Given the description of an element on the screen output the (x, y) to click on. 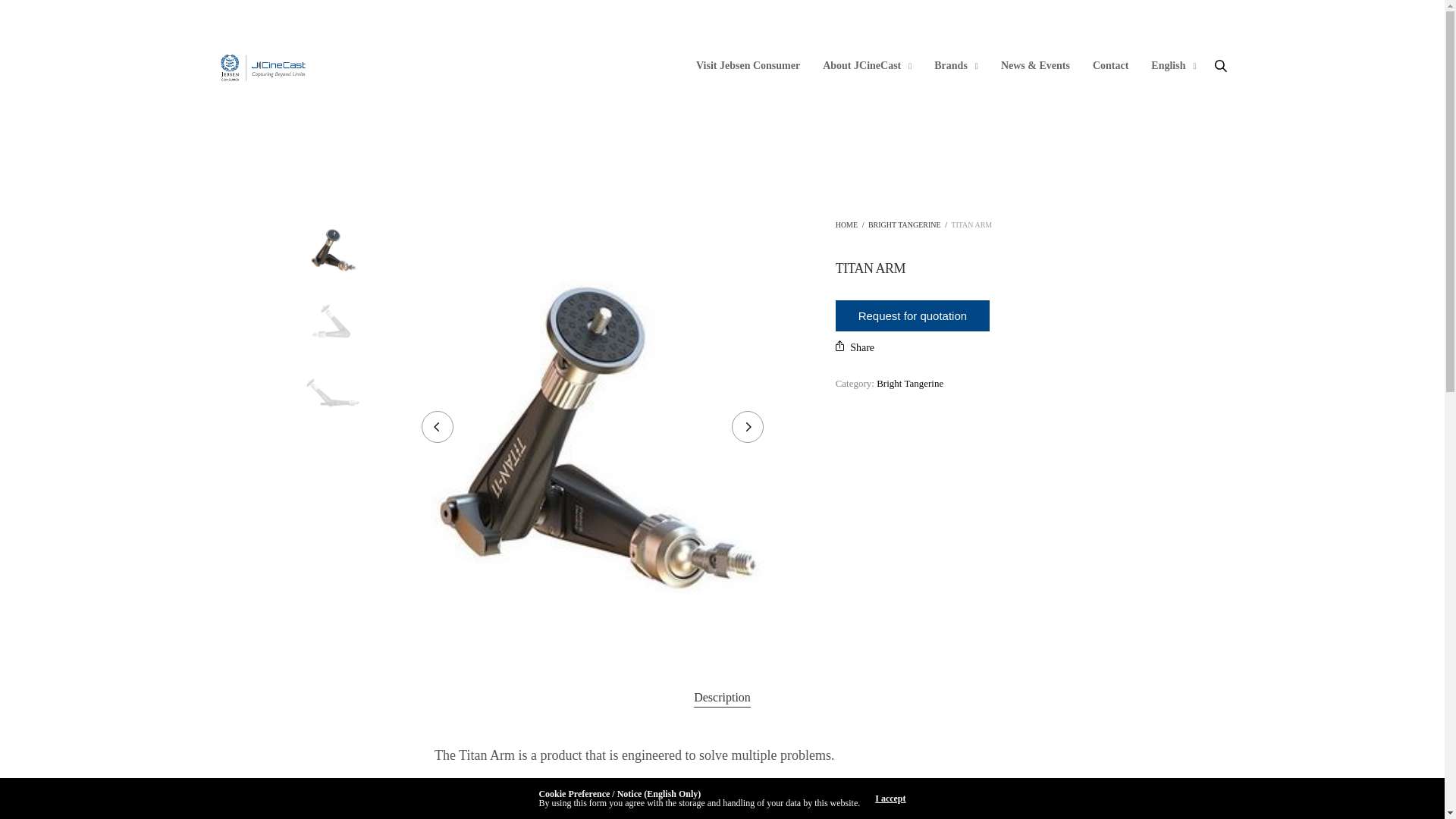
About JCineCast (866, 65)
English (1173, 65)
7693 (332, 391)
English (1173, 65)
Brands (956, 65)
Visit Jebsen Consumer (747, 65)
Jebsen Consumer (262, 65)
7692 (332, 320)
